Given the description of an element on the screen output the (x, y) to click on. 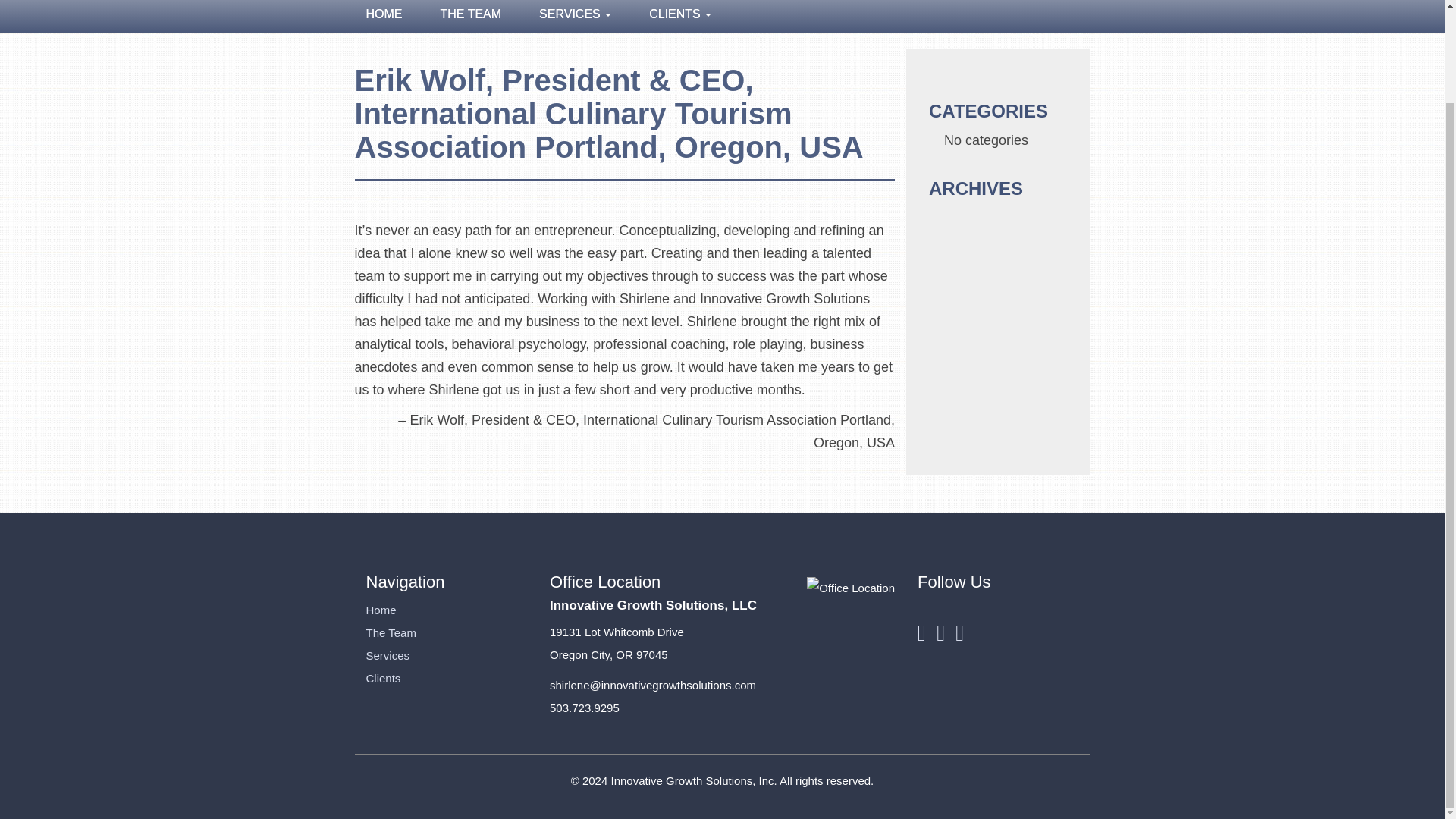
The Team (389, 632)
Home (380, 609)
SERVICES (574, 16)
HOME (388, 16)
SERVICES (574, 16)
THE TEAM (471, 16)
CLIENTS (670, 16)
Clients (382, 677)
HOME (388, 16)
CLIENTS (670, 16)
